Given the description of an element on the screen output the (x, y) to click on. 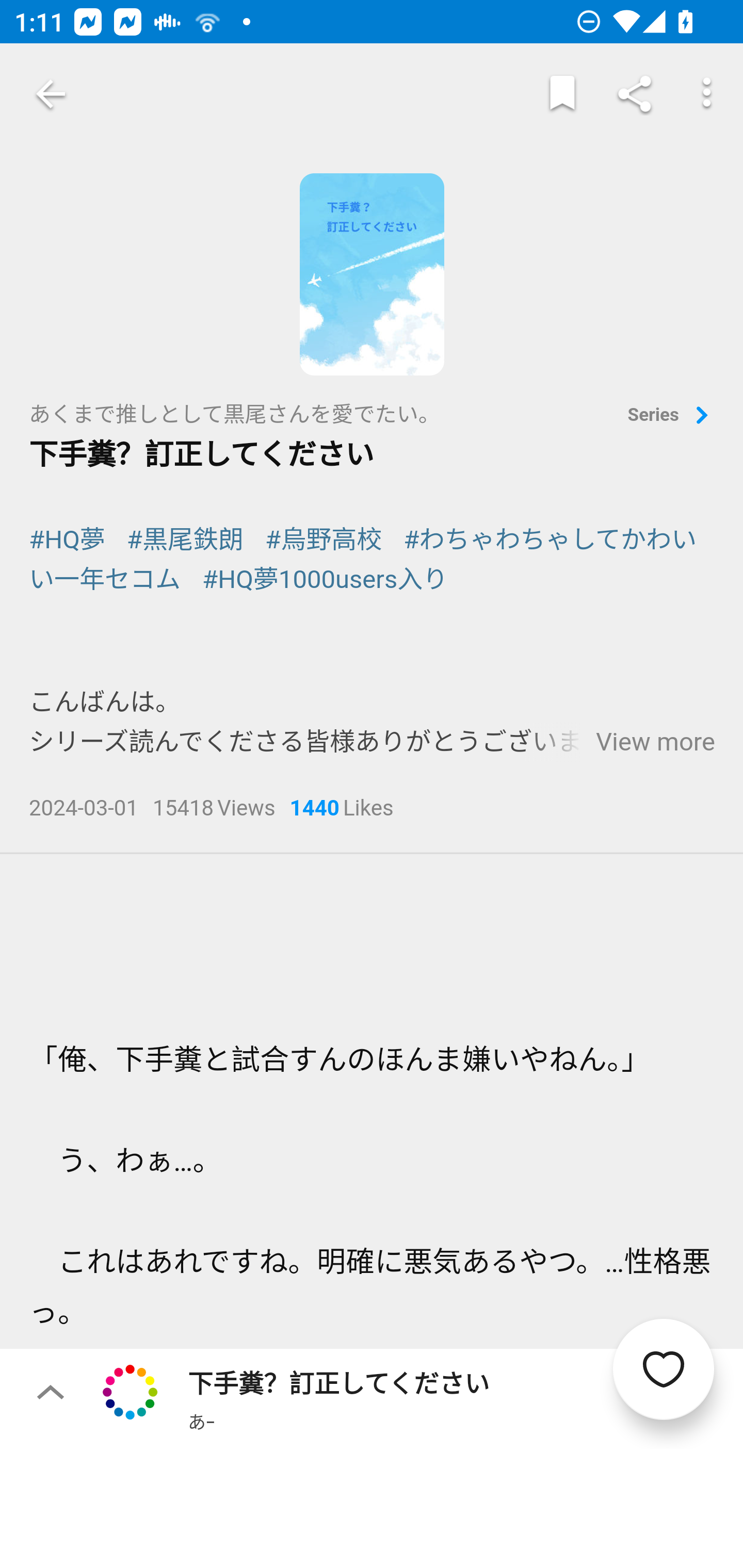
Navigate up (50, 93)
Markers (562, 93)
Share (634, 93)
More options (706, 93)
Series (671, 416)
#HQ夢 (67, 539)
#わちゃわちゃしてかわいい一年セコム (362, 559)
#黒尾鉄朗 (185, 539)
#烏野高校 (322, 539)
#HQ夢1000users入り (325, 578)
View more (654, 742)
1440Likes (342, 809)
あｰ (201, 1421)
